Given the description of an element on the screen output the (x, y) to click on. 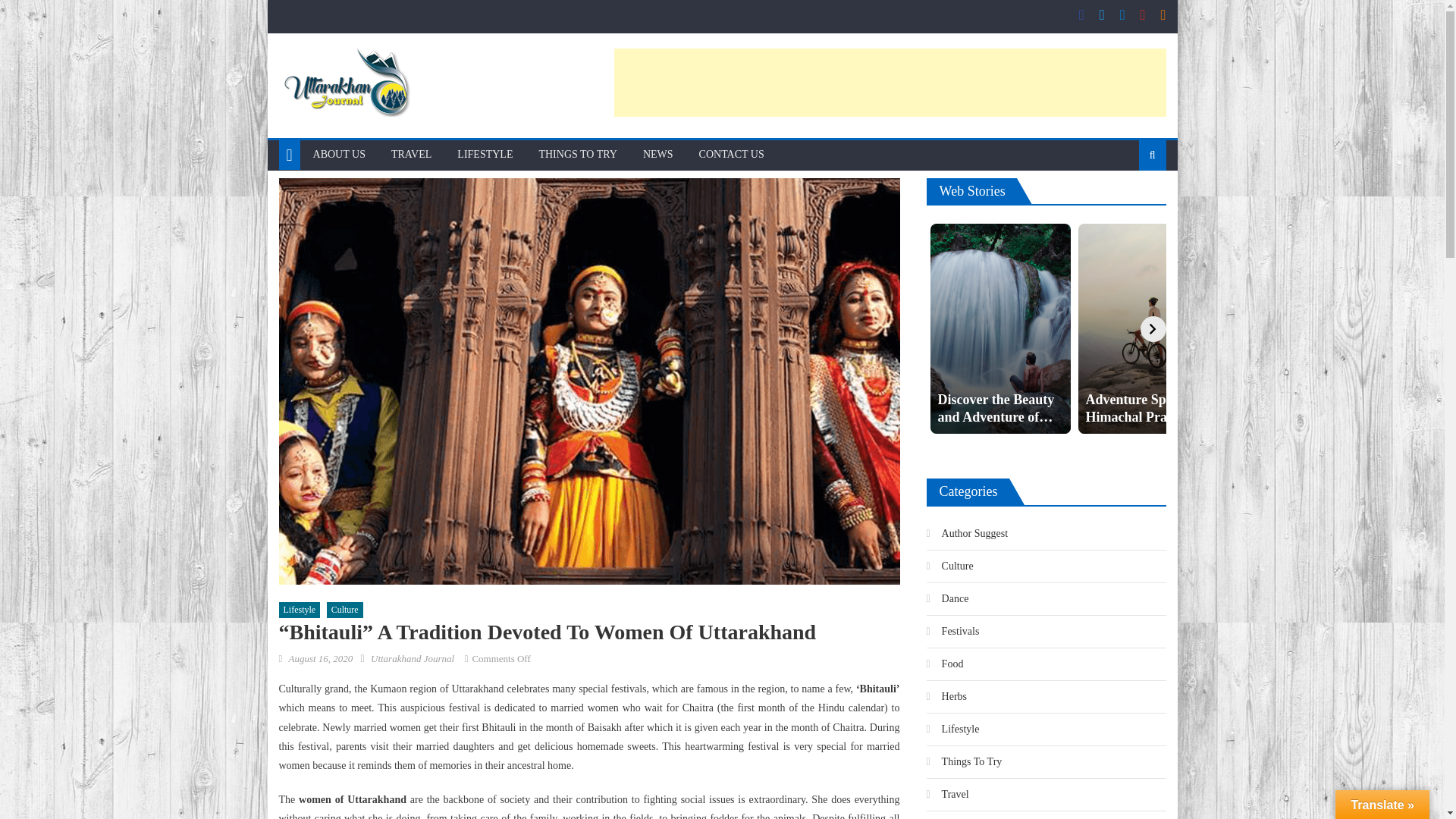
ABOUT US (339, 154)
August 16, 2020 (320, 658)
Advertisement (890, 82)
Culture (344, 610)
THINGS TO TRY (577, 154)
TRAVEL (411, 154)
CONTACT US (731, 154)
Search (1128, 203)
NEWS (657, 154)
LIFESTYLE (484, 154)
Uttarakhand Journal (412, 658)
Lifestyle (299, 610)
